Given the description of an element on the screen output the (x, y) to click on. 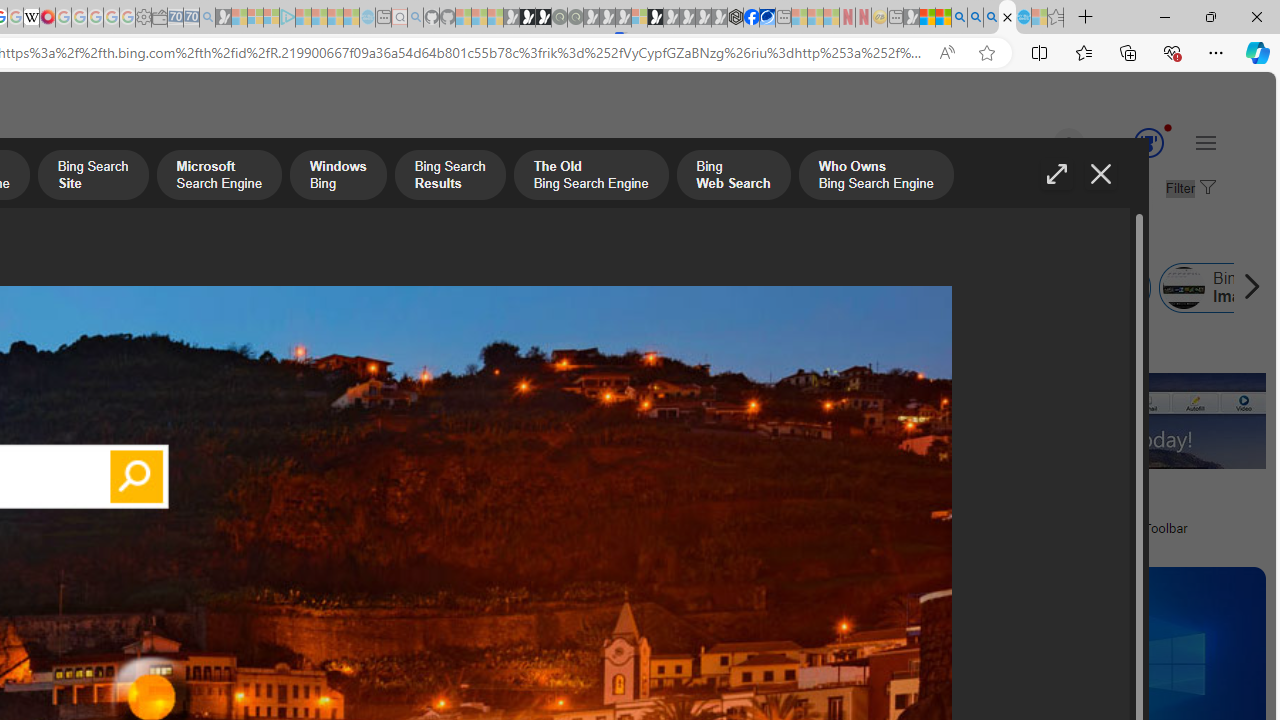
Bing Menu Bar (1028, 287)
Class: item col (1076, 287)
Animation (1167, 127)
Microsoft Bing Search Bar (175, 287)
Bing Search Bar Install - Search Images (1007, 17)
Settings and quick links (1205, 142)
Nordace - Cooler Bags (735, 17)
